Given the description of an element on the screen output the (x, y) to click on. 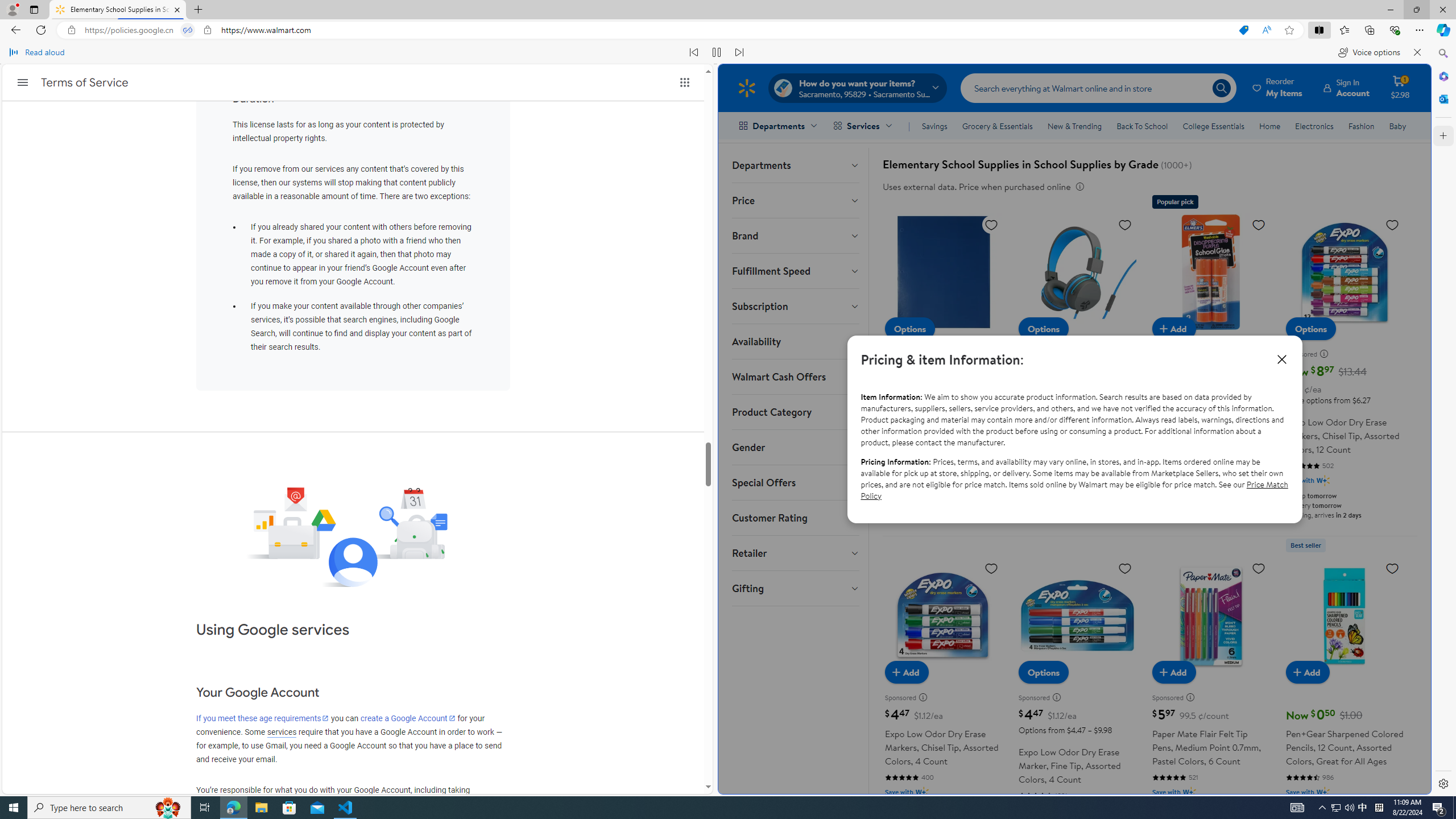
Voice options (1369, 52)
Close read aloud (1417, 52)
